Given the description of an element on the screen output the (x, y) to click on. 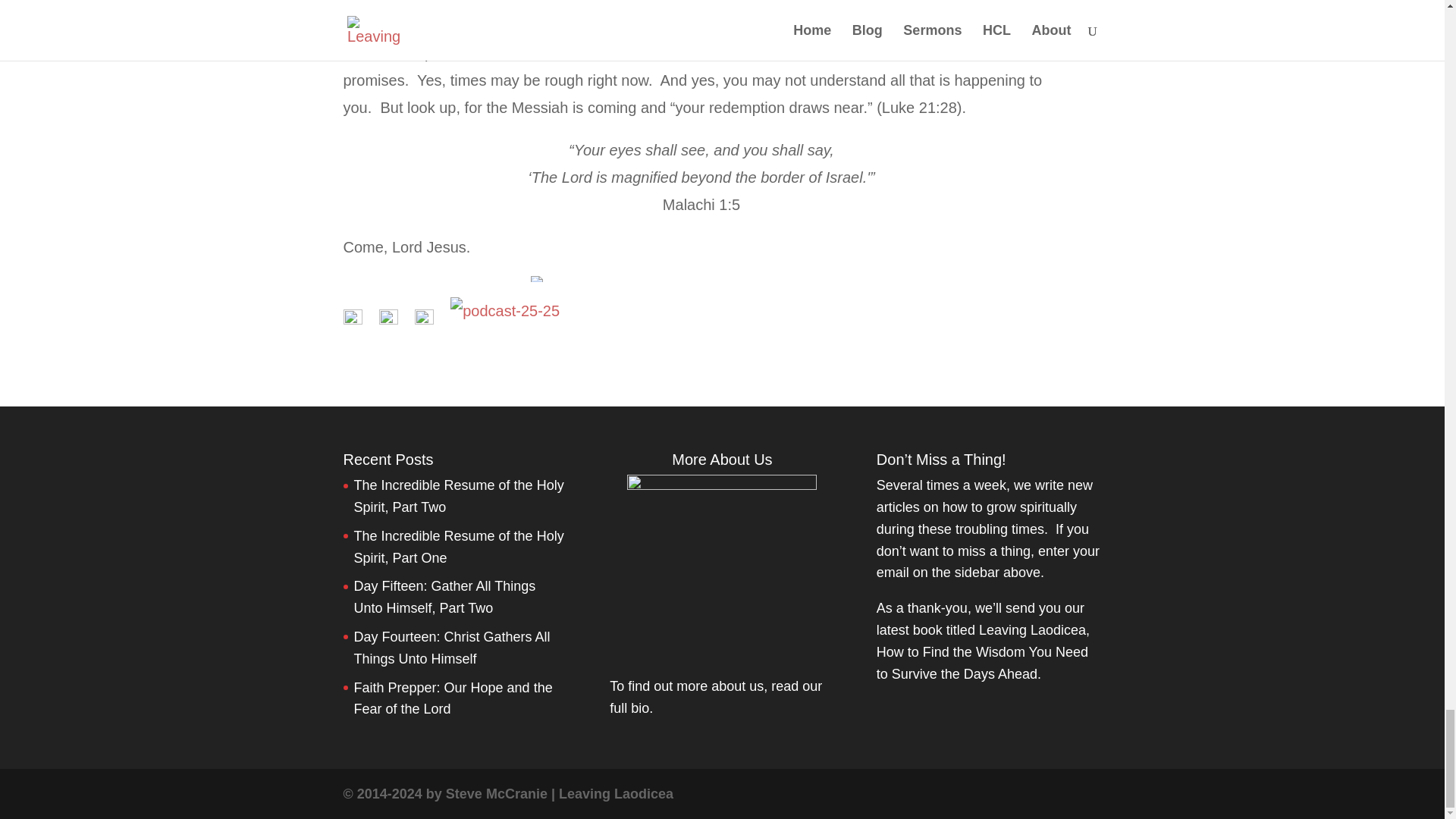
Day Fourteen: Christ Gathers All Things Unto Himself (451, 647)
The Incredible Resume of the Holy Spirit, Part Two (458, 496)
Day Fifteen: Gather All Things Unto Himself, Part Two (444, 596)
Faith Prepper: Our Hope and the Fear of the Lord (452, 697)
full bio (629, 708)
The Incredible Resume of the Holy Spirit, Part One (458, 546)
